Given the description of an element on the screen output the (x, y) to click on. 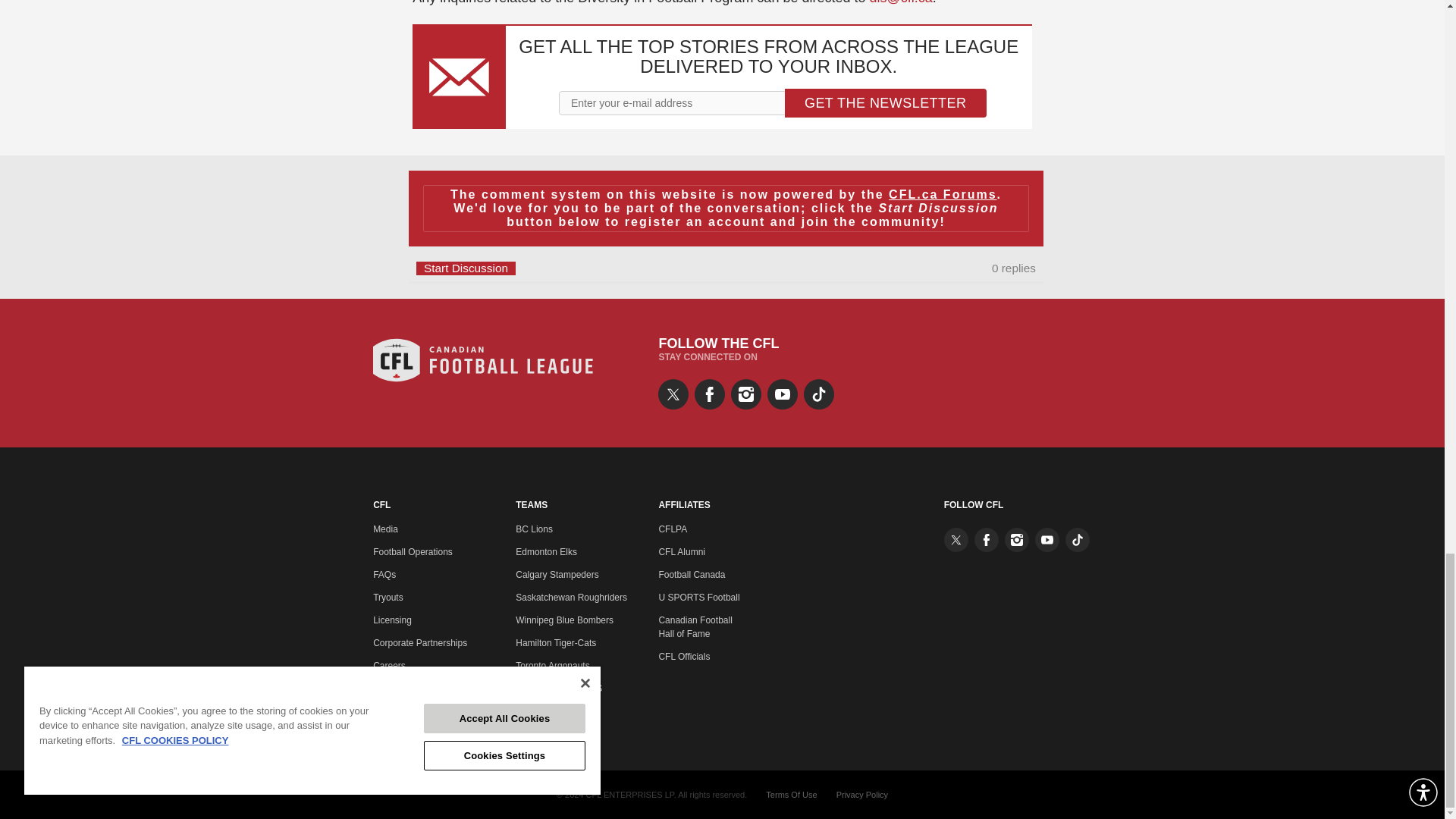
Get The Newsletter (885, 102)
